Given the description of an element on the screen output the (x, y) to click on. 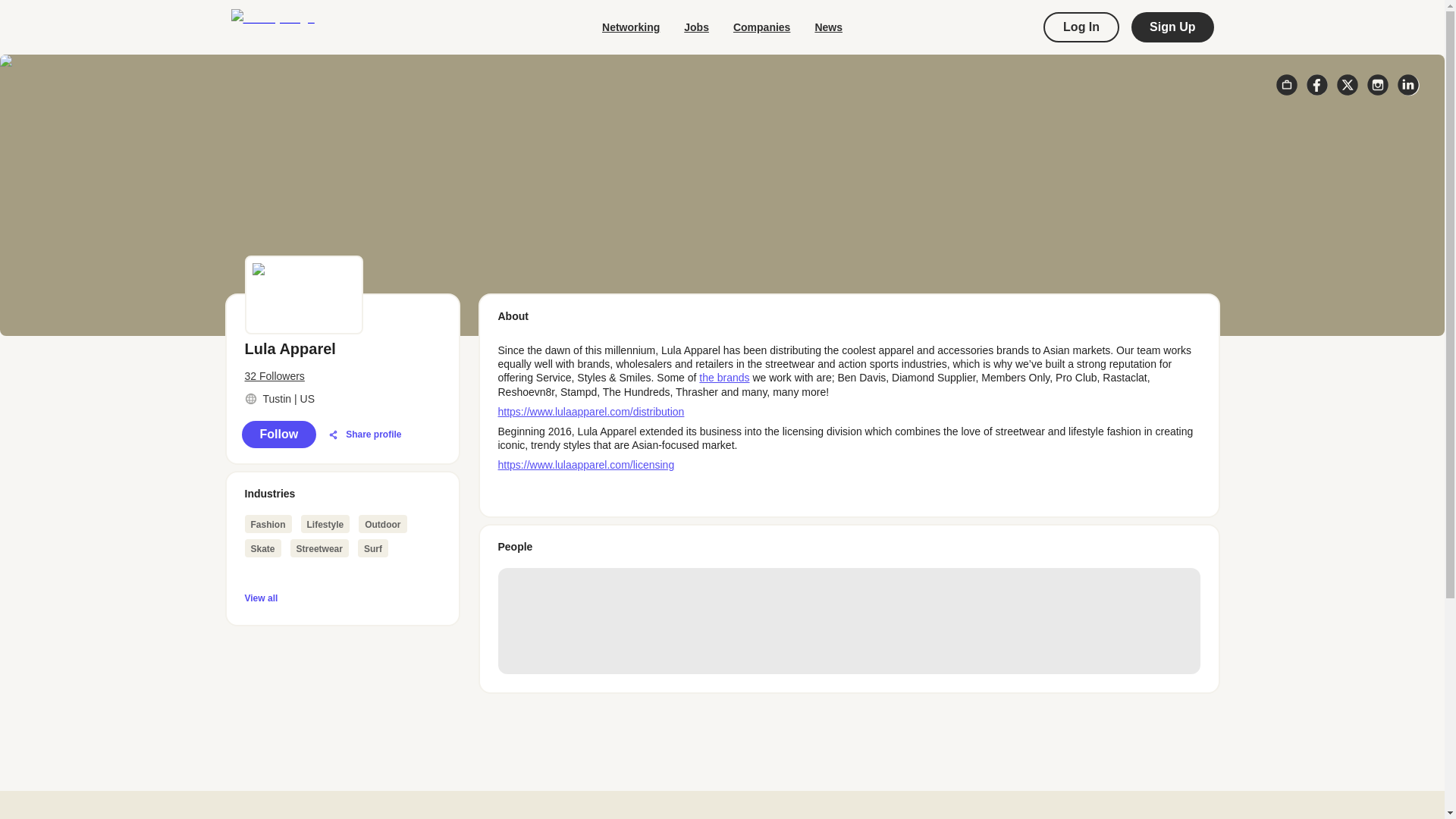
Networking (630, 26)
Log In (1081, 27)
the brands (723, 377)
News (828, 26)
View all (341, 597)
Companies (761, 26)
Follow (278, 433)
Share profile (364, 434)
32 Followers (341, 376)
Jobs (696, 26)
